Given the description of an element on the screen output the (x, y) to click on. 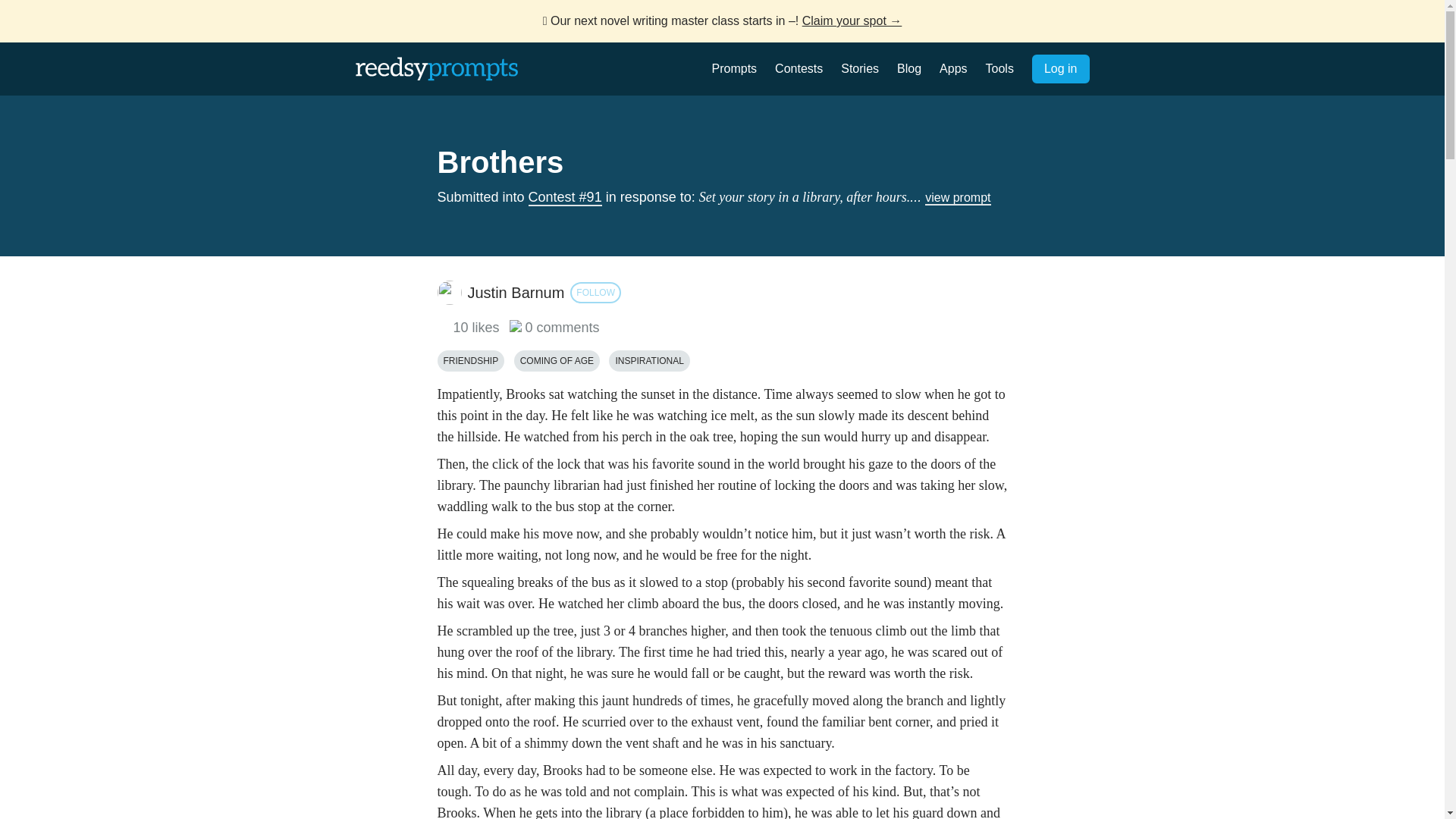
Log in (1060, 68)
Tools (999, 68)
0 comments (554, 327)
Stories (860, 68)
Blog (908, 68)
Contests (798, 68)
Apps (952, 68)
Prompts (734, 68)
